Given the description of an element on the screen output the (x, y) to click on. 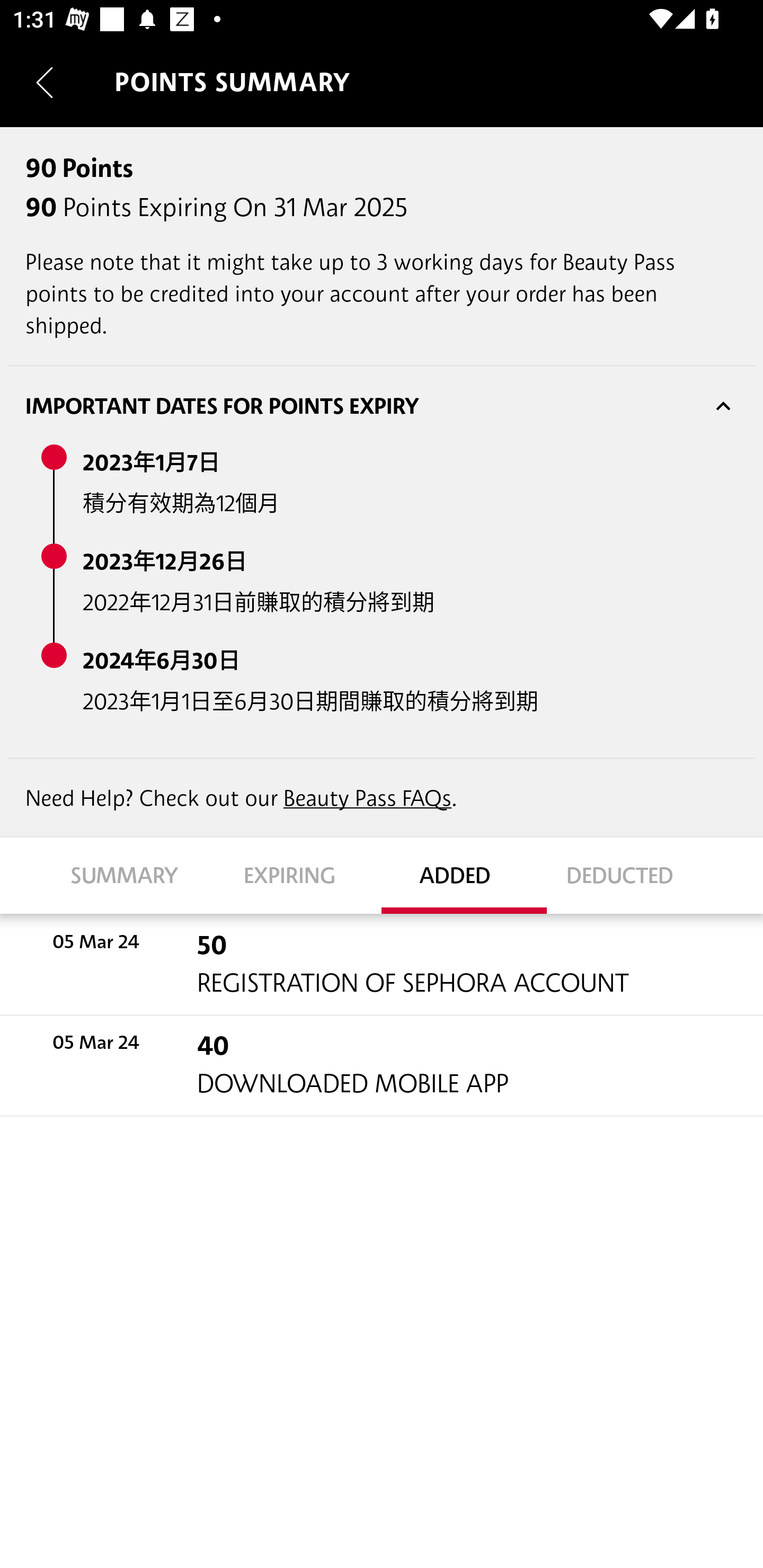
Navigate up (44, 82)
IMPORTANT DATES FOR POINTS EXPIRY (381, 406)
SUMMARY (133, 875)
EXPIRING (298, 875)
DEDUCTED (629, 875)
